Given the description of an element on the screen output the (x, y) to click on. 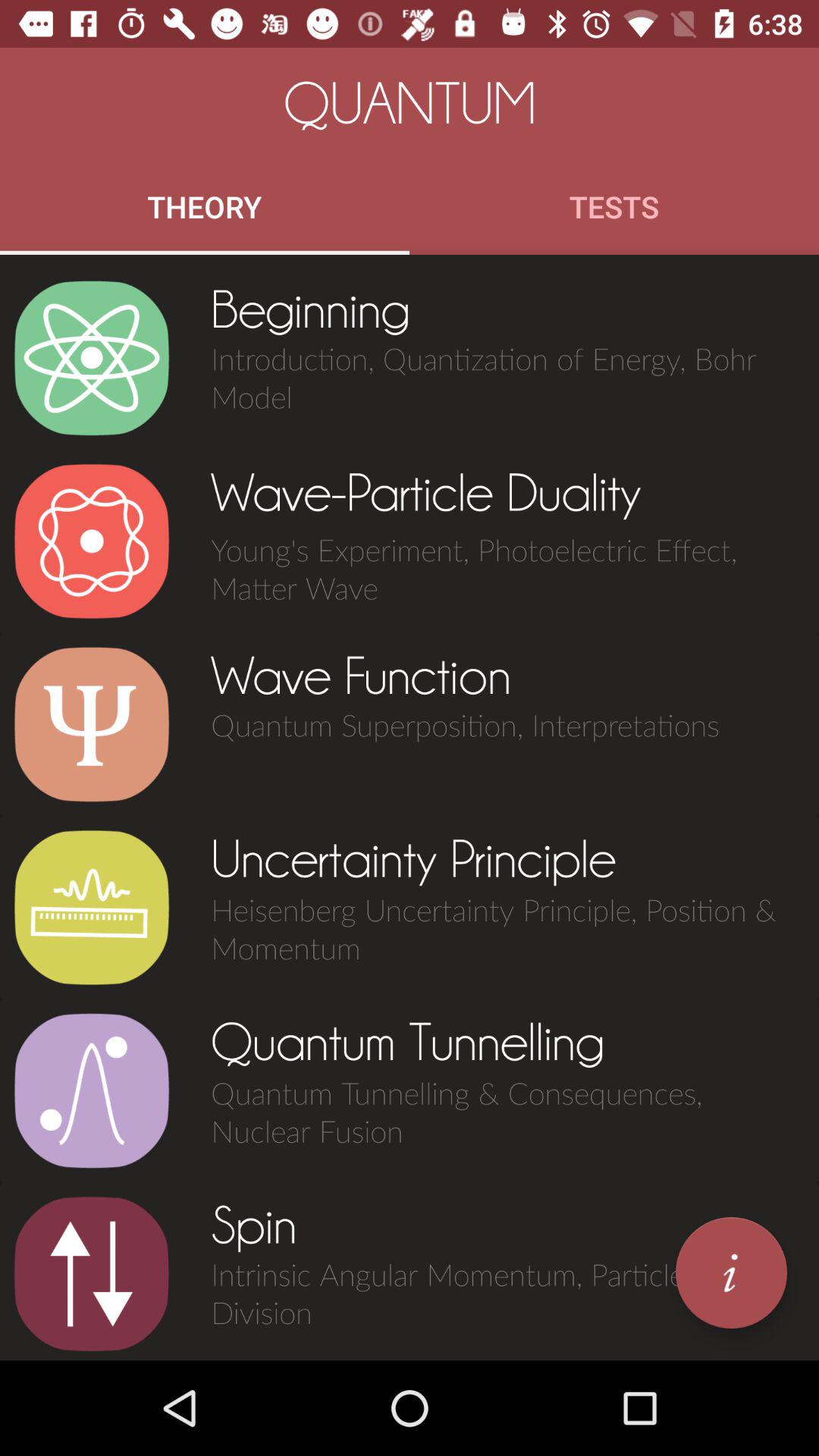
go to quantum tunneling section (91, 1090)
